Given the description of an element on the screen output the (x, y) to click on. 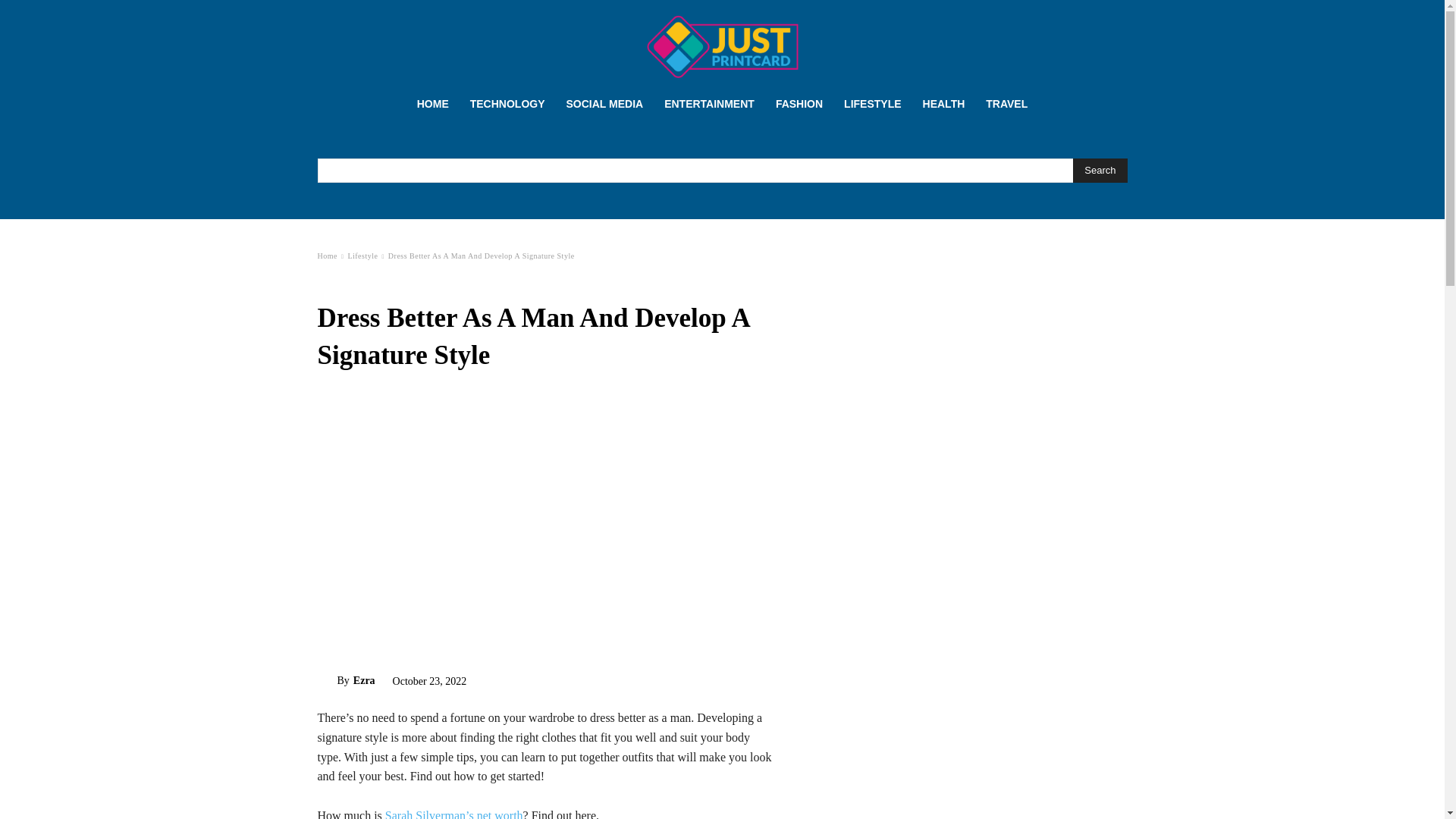
SOCIAL MEDIA (603, 103)
ENTERTAINMENT (709, 103)
View all posts in Lifestyle (362, 255)
Ezra (326, 680)
TRAVEL (1006, 103)
FASHION (798, 103)
TECHNOLOGY (508, 103)
Search (1099, 170)
LIFESTYLE (871, 103)
HEALTH (943, 103)
